Given the description of an element on the screen output the (x, y) to click on. 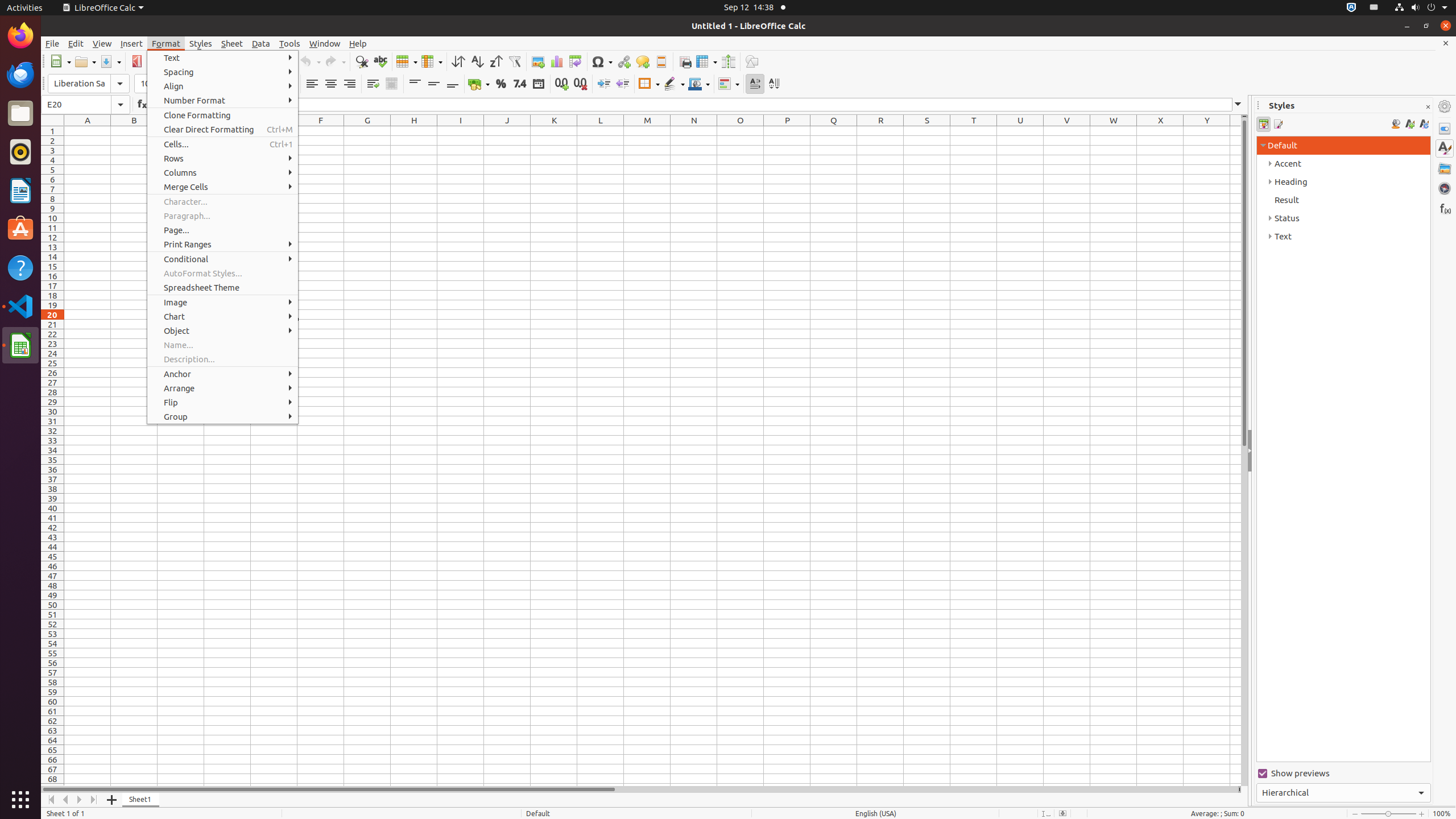
Q1 Element type: table-cell (833, 130)
New Style from Selection Element type: push-button (1409, 123)
Object Element type: menu (222, 330)
:1.72/StatusNotifierItem Element type: menu (1350, 7)
Print Area Element type: push-button (684, 61)
